Given the description of an element on the screen output the (x, y) to click on. 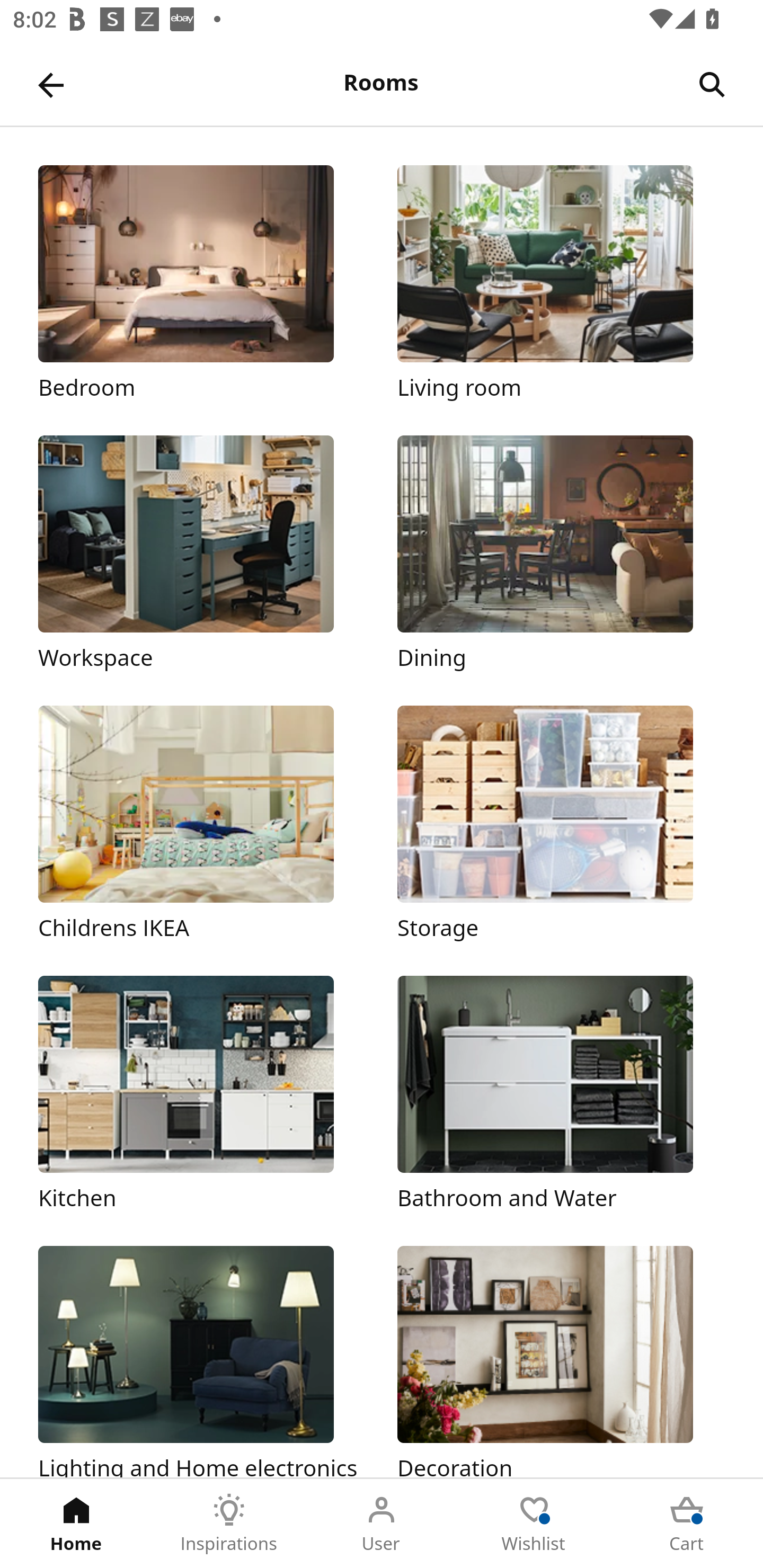
Bedroom (201, 283)
Living room (560, 283)
Workspace (201, 554)
Dining (560, 554)
Childrens IKEA (201, 824)
Storage (560, 824)
Kitchen (201, 1094)
Bathroom and Water (560, 1094)
Lighting and Home electronics (201, 1361)
Decoration (560, 1361)
Home
Tab 1 of 5 (76, 1522)
Inspirations
Tab 2 of 5 (228, 1522)
User
Tab 3 of 5 (381, 1522)
Wishlist
Tab 4 of 5 (533, 1522)
Cart
Tab 5 of 5 (686, 1522)
